Given the description of an element on the screen output the (x, y) to click on. 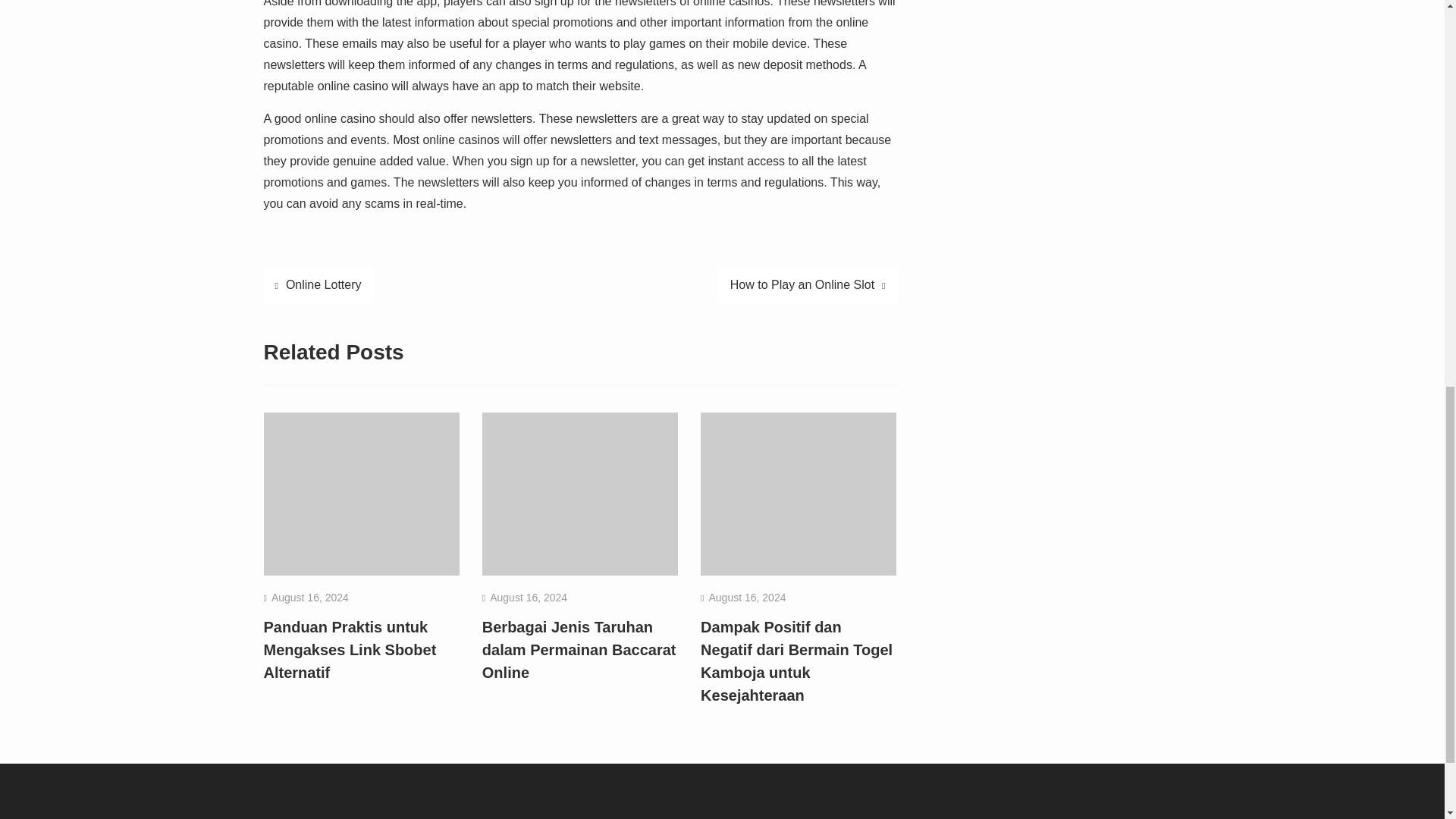
Berbagai Jenis Taruhan dalam Permainan Baccarat Online (579, 649)
Panduan Praktis untuk Mengakses Link Sbobet Alternatif (349, 649)
Online Lottery (317, 284)
How to Play an Online Slot (807, 284)
